Given the description of an element on the screen output the (x, y) to click on. 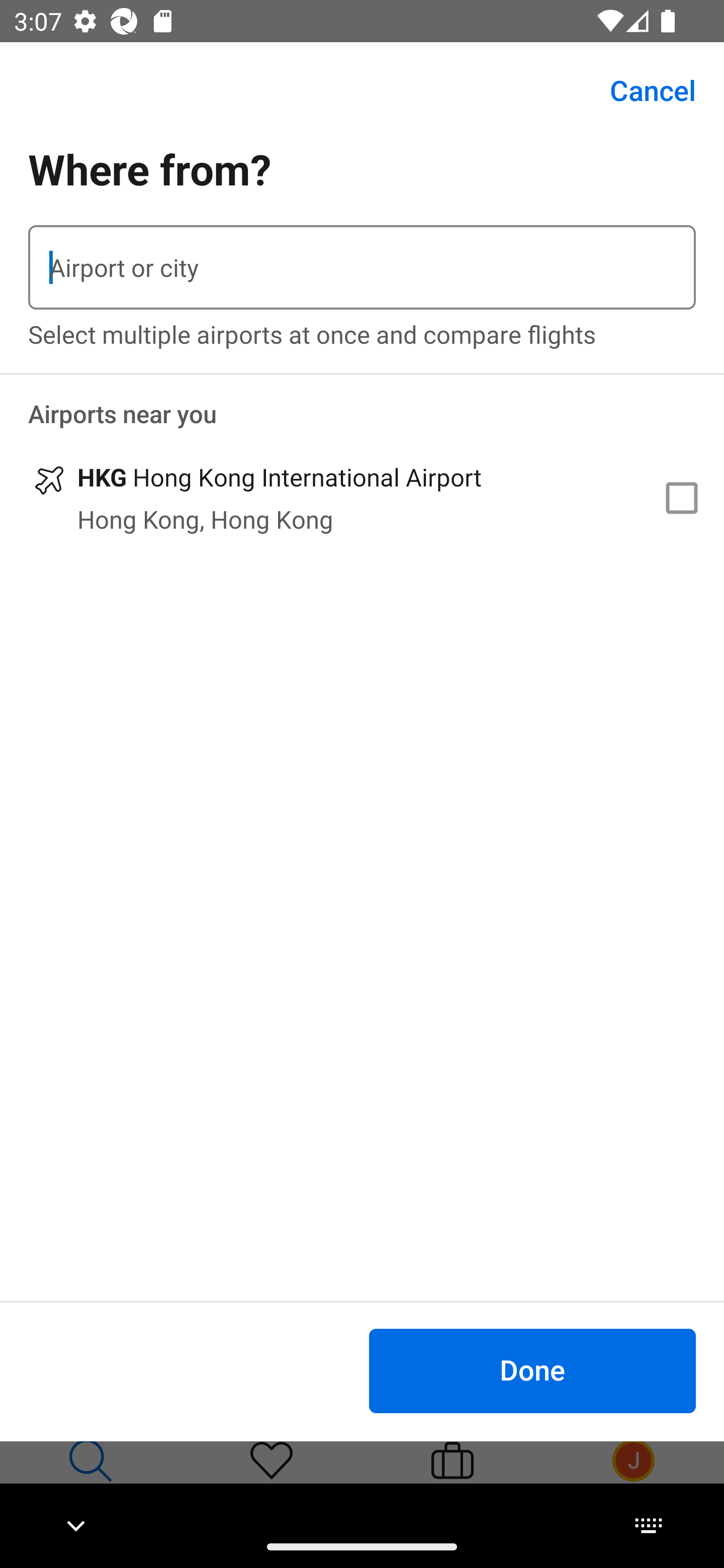
Cancel (641, 90)
Airport or city (361, 266)
Done (532, 1370)
